Given the description of an element on the screen output the (x, y) to click on. 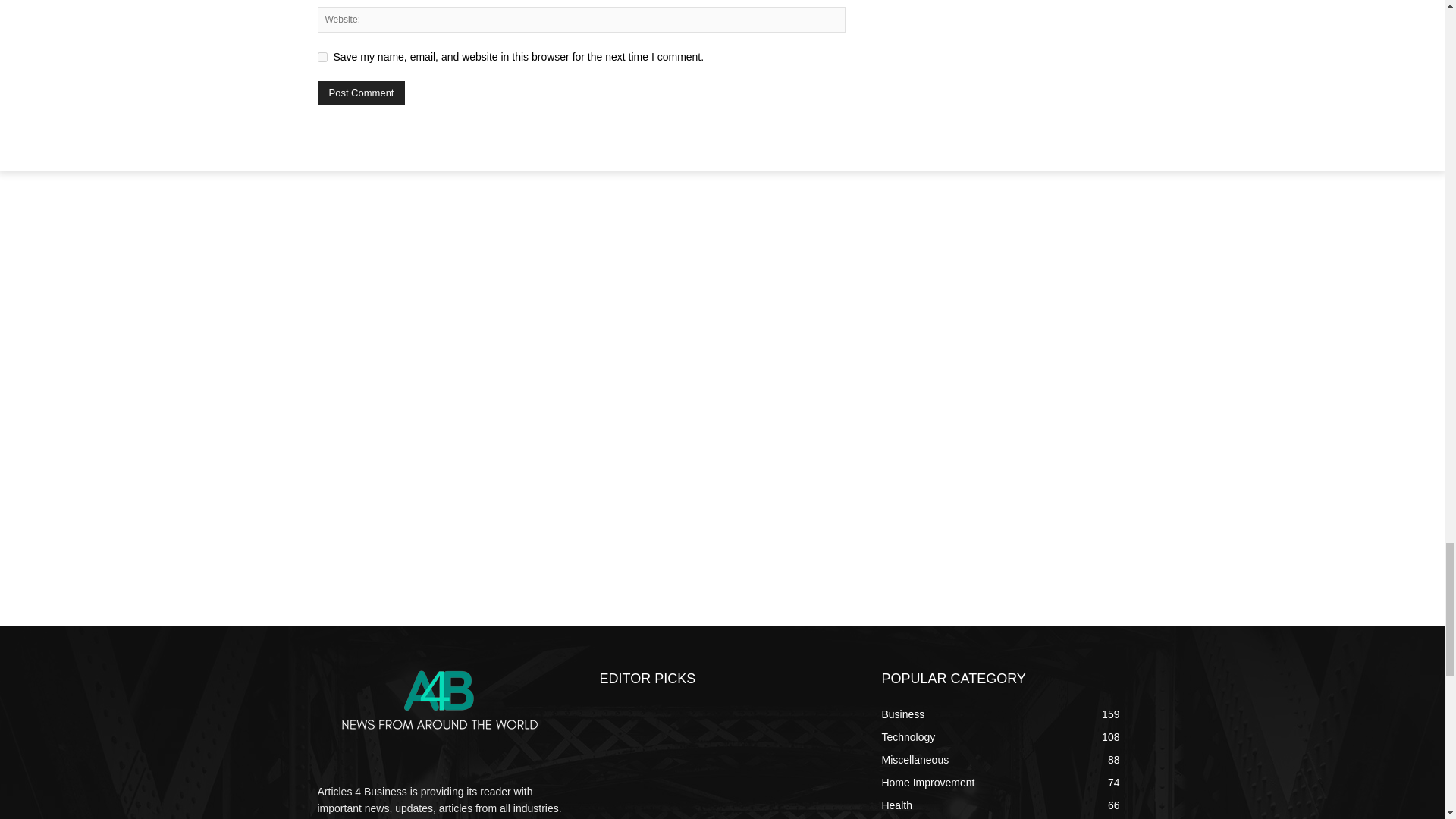
Post Comment (360, 92)
yes (321, 57)
